Given the description of an element on the screen output the (x, y) to click on. 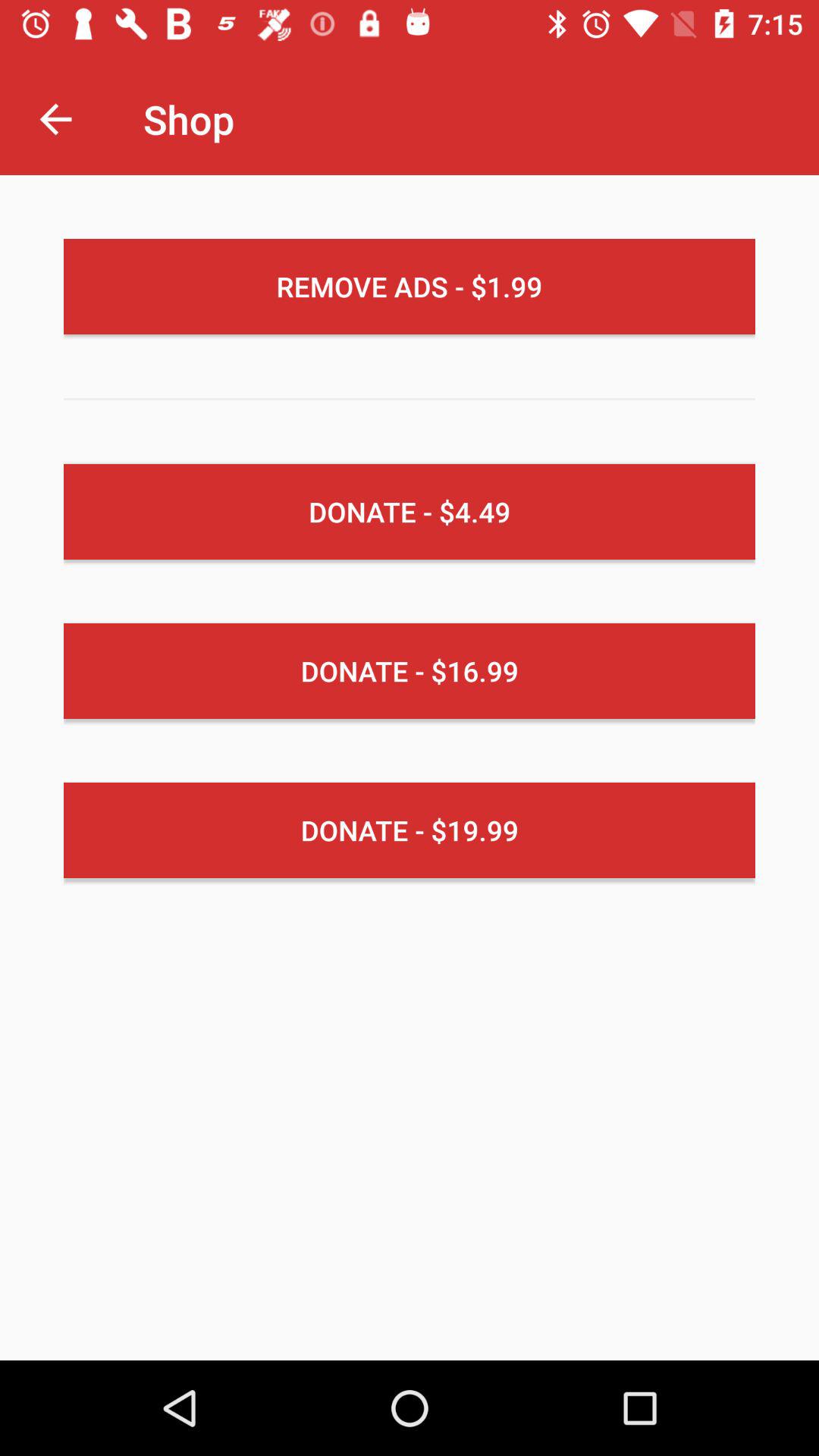
turn on the item to the left of shop icon (55, 119)
